Given the description of an element on the screen output the (x, y) to click on. 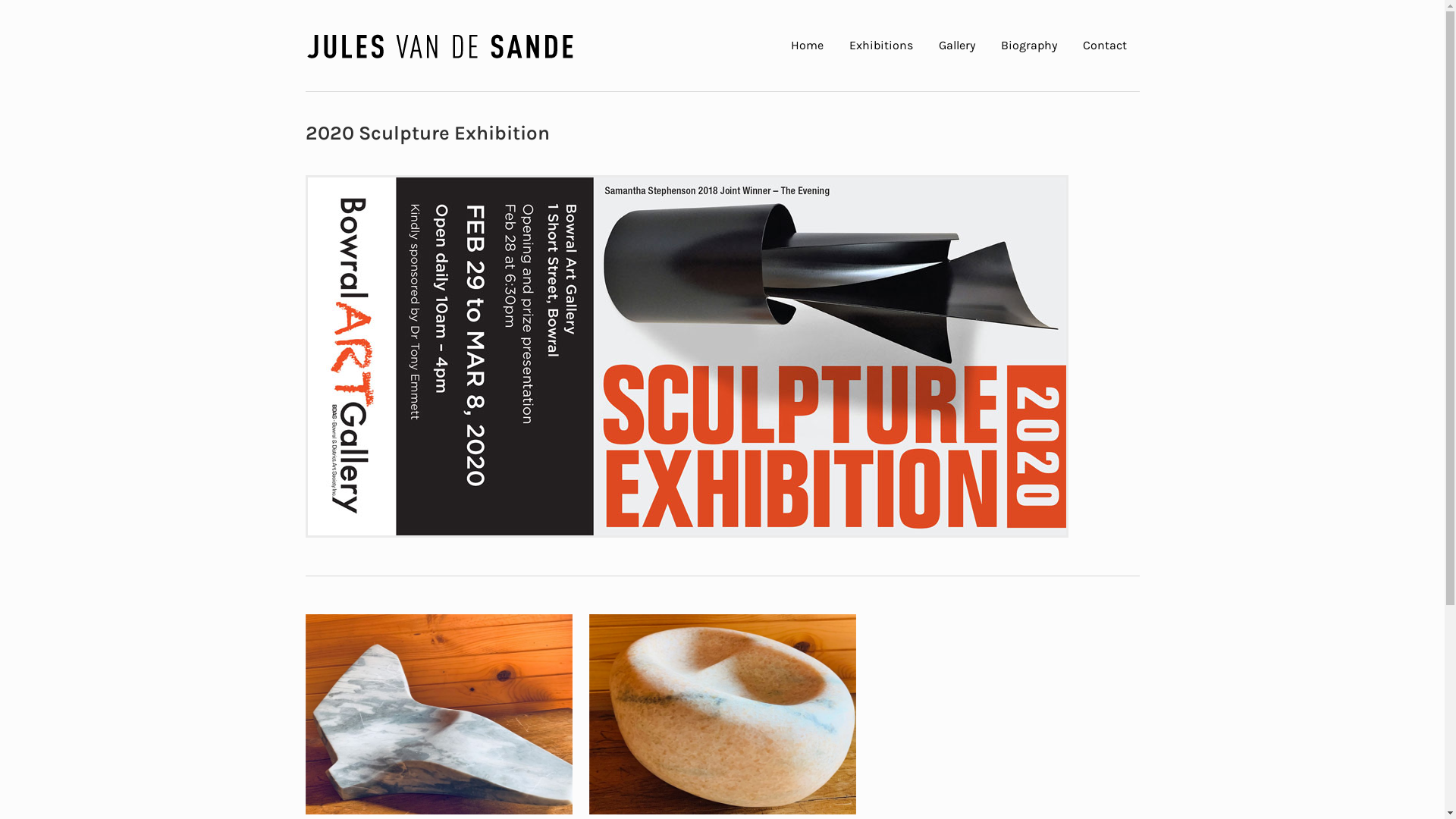
Biography Element type: text (1028, 45)
Exhibitions Element type: text (880, 45)
Home Element type: text (807, 45)
Gallery Element type: text (956, 45)
SculptureExhibition-rotated Element type: hover (686, 356)
Contact Element type: text (1104, 45)
